Given the description of an element on the screen output the (x, y) to click on. 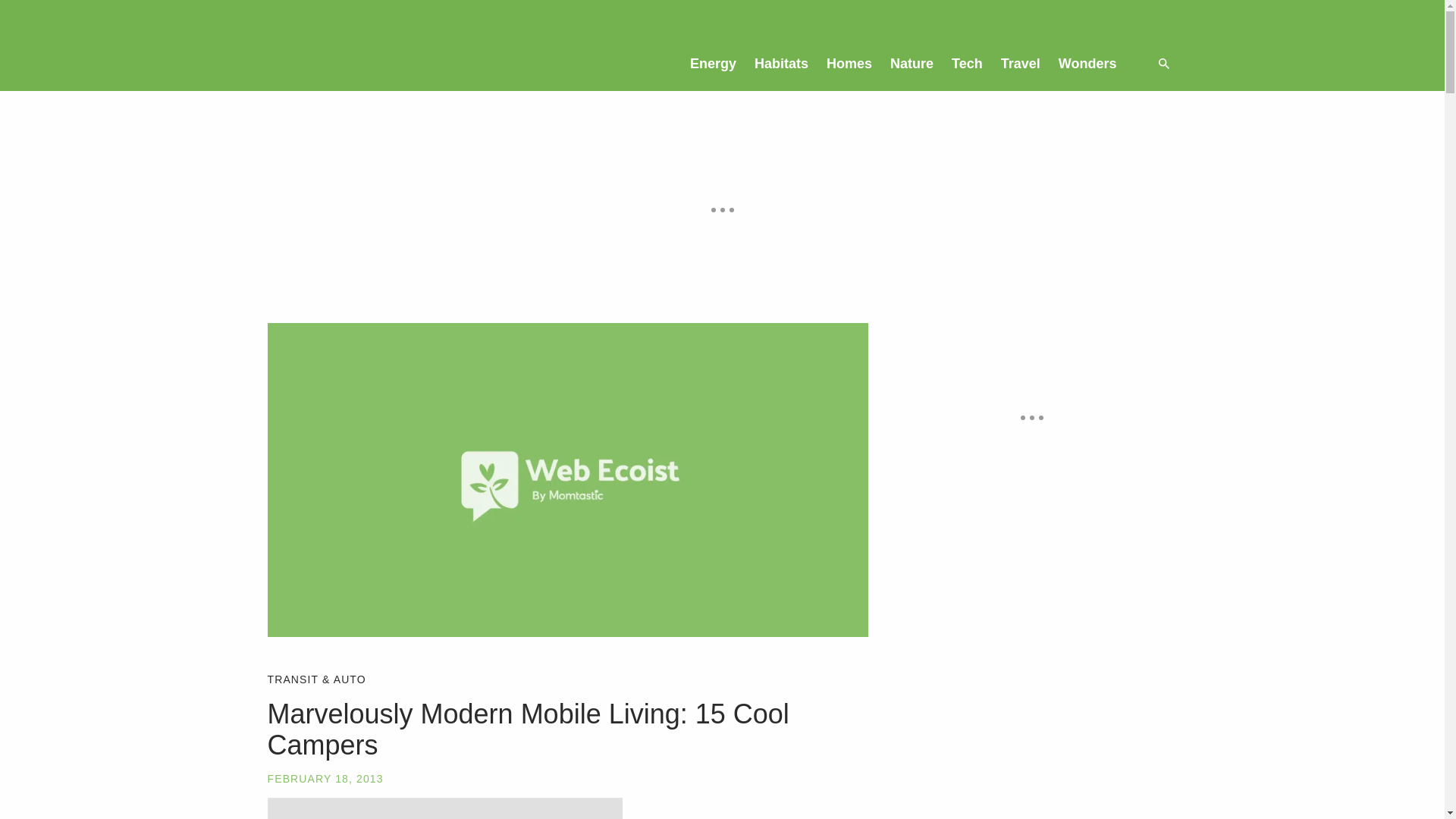
Habitats (780, 63)
Energy (713, 63)
Travel (1020, 63)
Crazy Campers MAIN (443, 808)
Homes (848, 63)
Nature (911, 63)
Tech (966, 63)
Wonders (1087, 63)
